Given the description of an element on the screen output the (x, y) to click on. 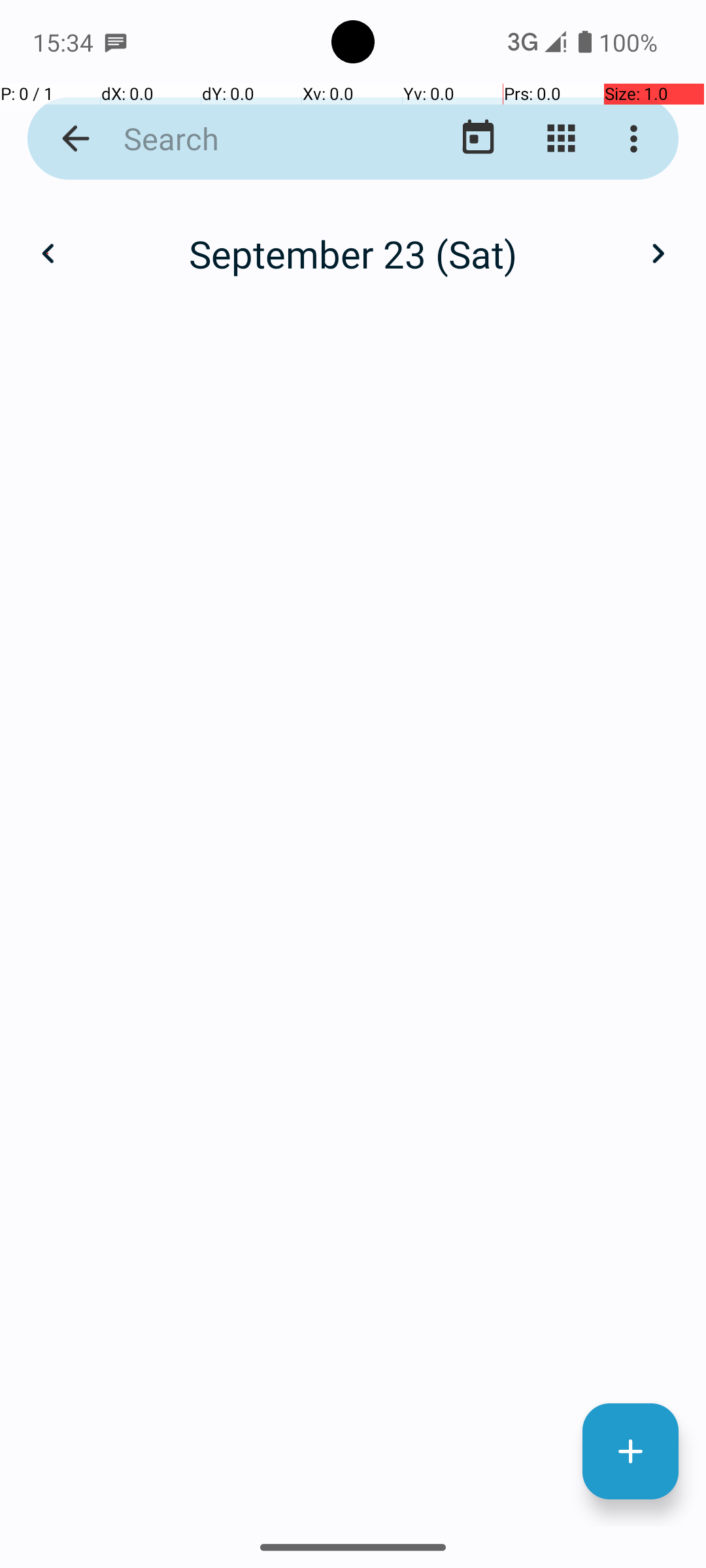
Go to today Element type: android.widget.Button (477, 138)
Change view Element type: android.widget.Button (560, 138)
New Event Element type: android.widget.ImageButton (630, 1451)
October Element type: android.widget.TextView (352, 239)
September 23 (Sat) Element type: android.widget.TextView (352, 253)
